Given the description of an element on the screen output the (x, y) to click on. 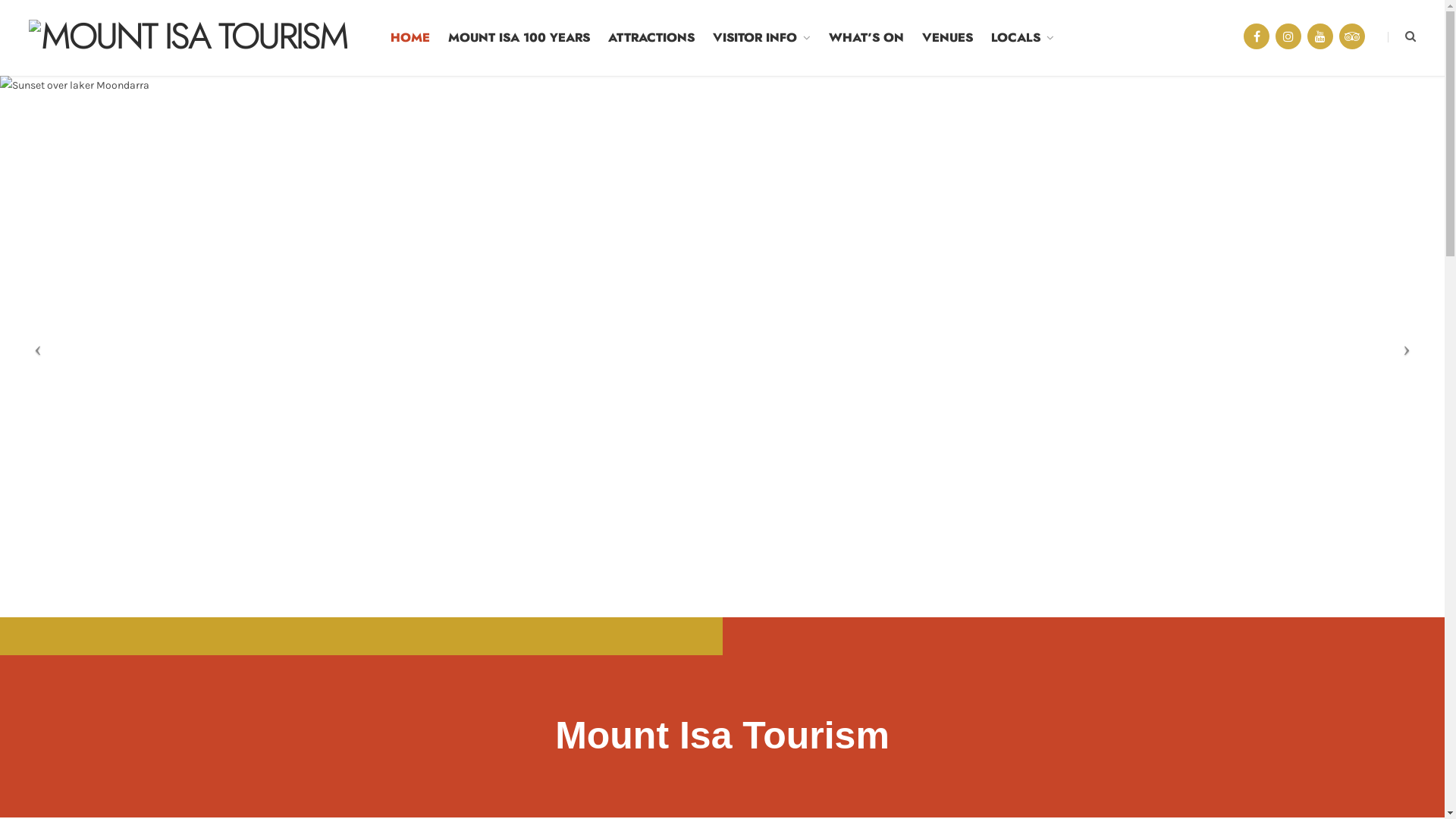
VISITOR INFO Element type: text (761, 37)
Instagram Element type: text (1288, 36)
MOUNT ISA 100 YEARS Element type: text (519, 37)
IMG_1748 (2) Element type: hover (722, 346)
ATTRACTIONS Element type: text (651, 37)
Trip Advisor Element type: text (1352, 36)
YouTube Element type: text (1320, 36)
LOCALS Element type: text (1022, 37)
VENUES Element type: text (947, 37)
Mount Isa Tourism Element type: hover (187, 37)
Facebook Element type: text (1256, 36)
HOME Element type: text (410, 37)
